Given the description of an element on the screen output the (x, y) to click on. 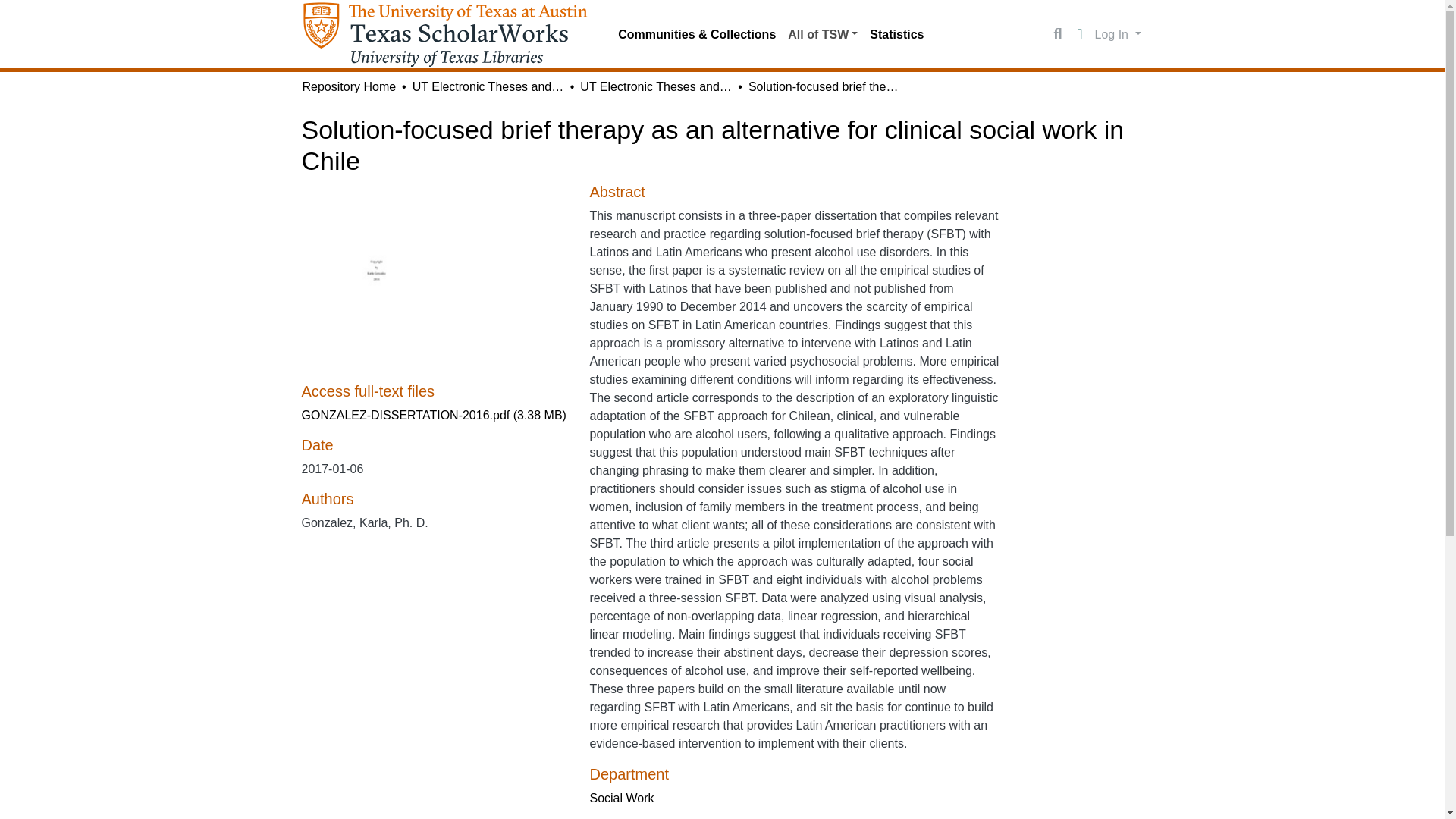
Social Work (621, 797)
Statistics (896, 34)
UT Electronic Theses and Dissertations (488, 86)
Repository Home (348, 86)
Log In (1117, 33)
Language switch (1079, 34)
All of TSW (822, 34)
Search (1057, 34)
Statistics (896, 34)
UT Electronic Theses and Dissertations (655, 86)
